Given the description of an element on the screen output the (x, y) to click on. 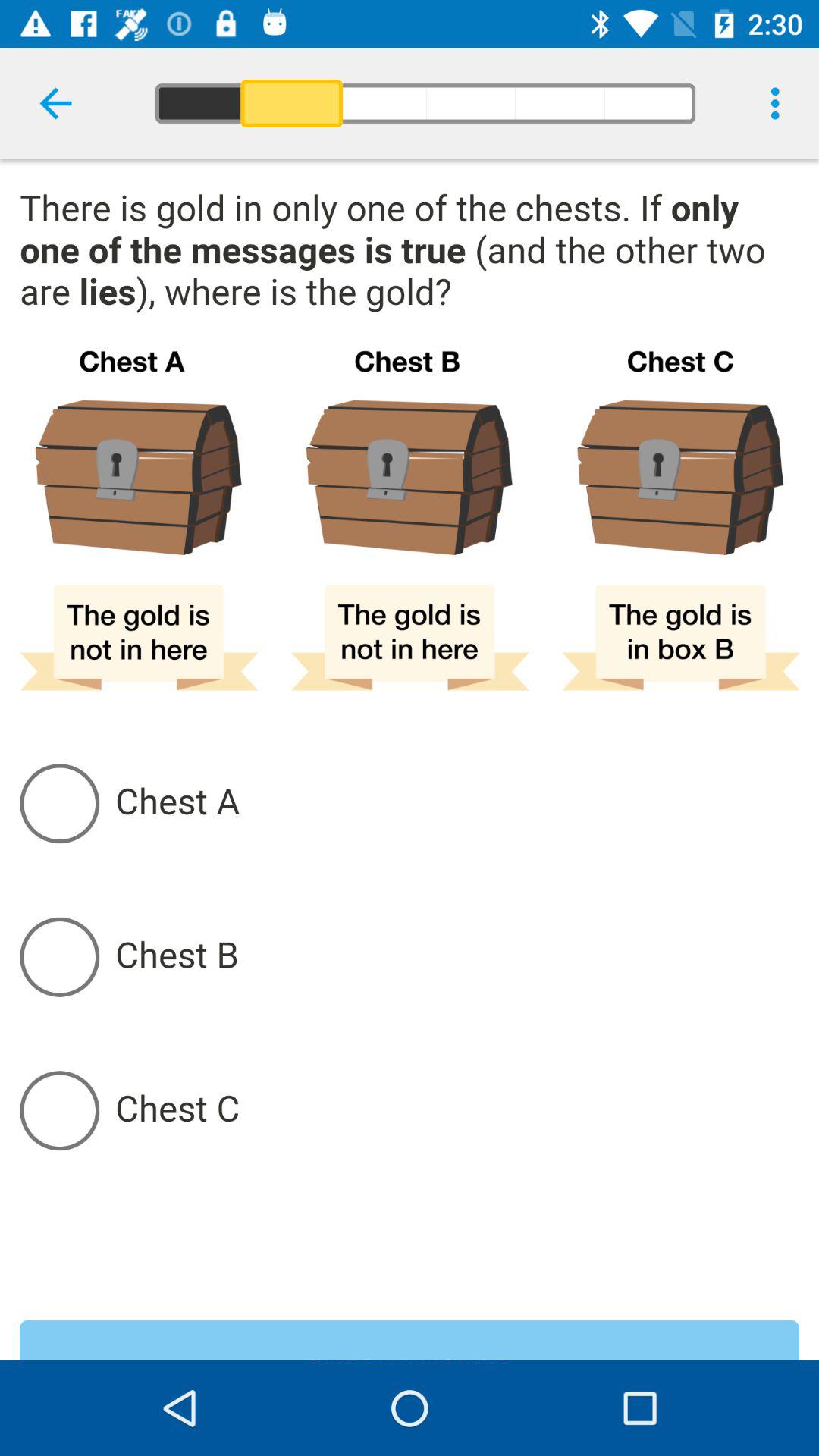
select chest b (457, 956)
